Given the description of an element on the screen output the (x, y) to click on. 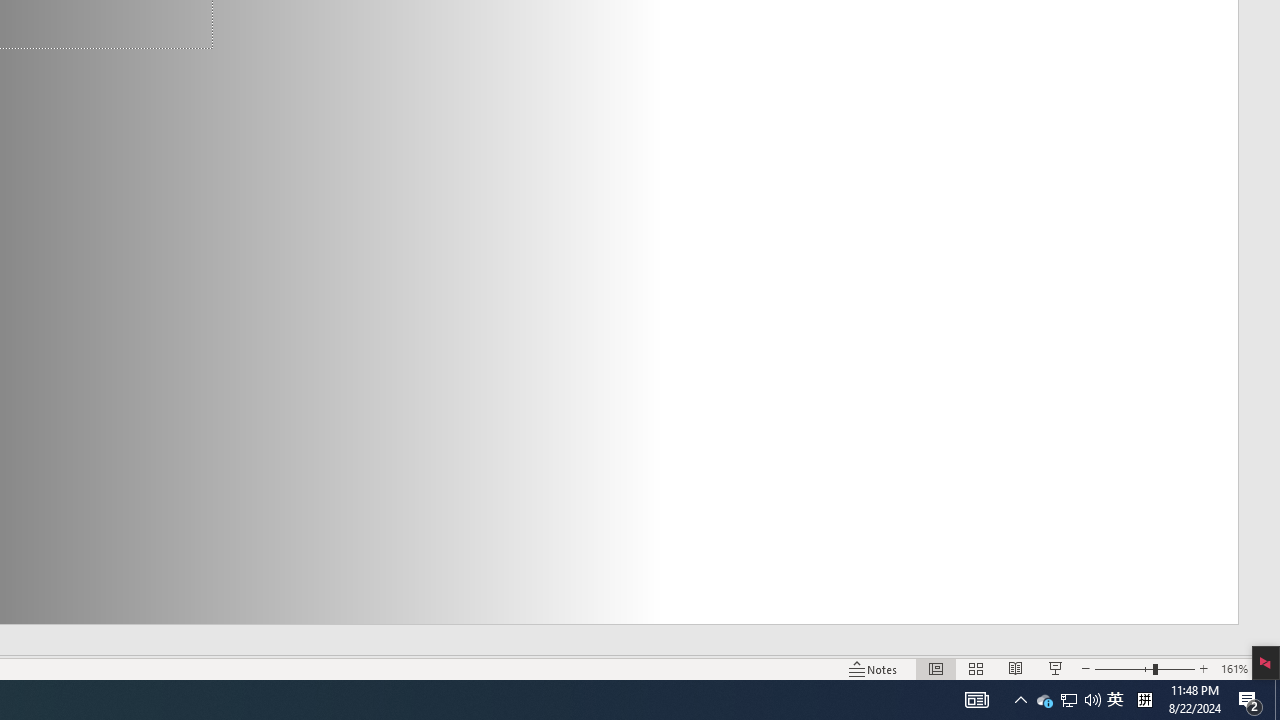
Zoom In (1204, 668)
Notes  (874, 668)
Zoom (1144, 668)
Zoom Out (1123, 668)
Slide Show (1055, 668)
Reading View (1015, 668)
Slide Sorter (975, 668)
Zoom 161% (1234, 668)
Zoom to Fit  (1267, 668)
Normal (936, 668)
